Given the description of an element on the screen output the (x, y) to click on. 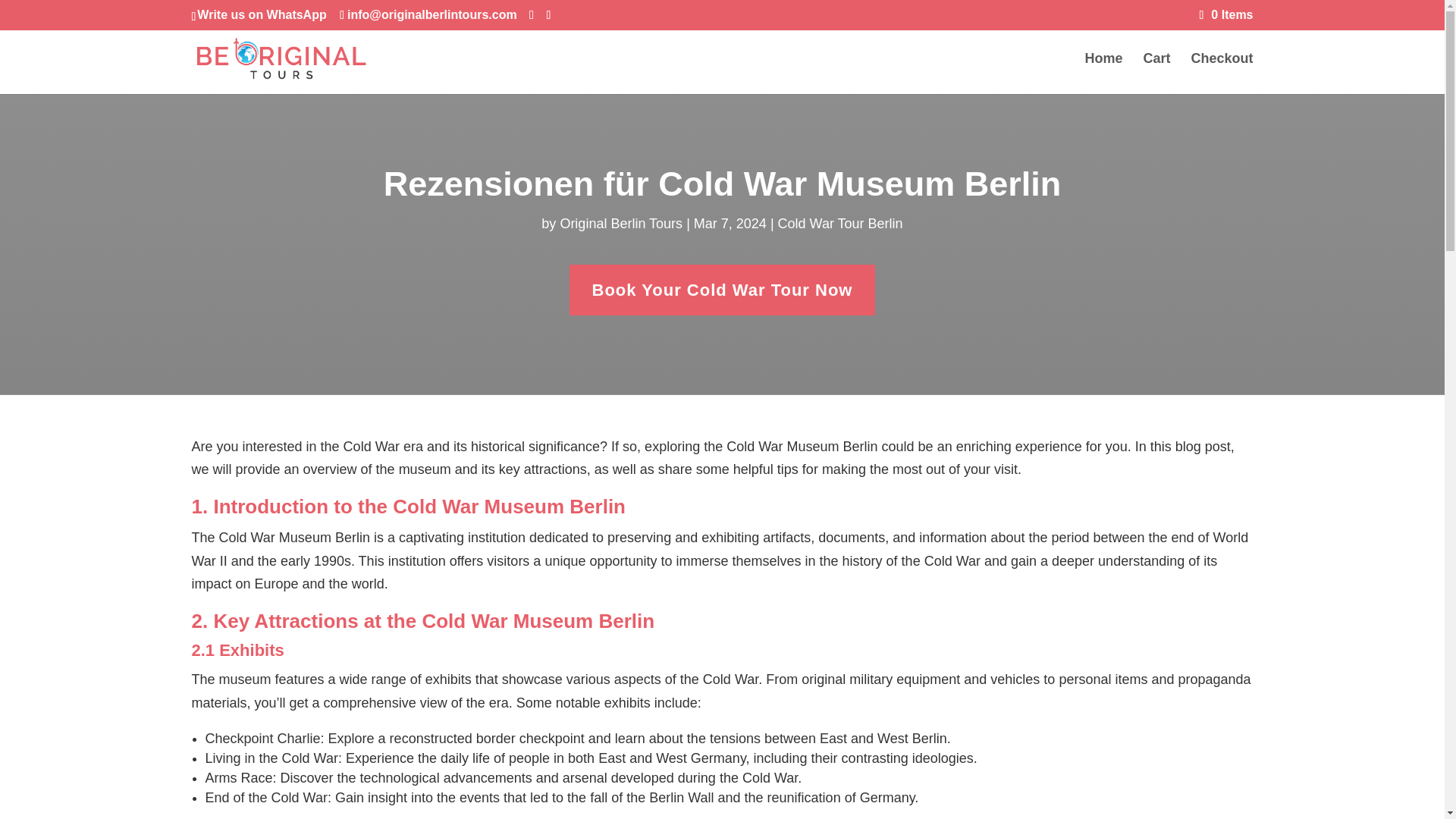
Original Berlin Tours (620, 223)
0 Items (1226, 14)
Write us on WhatsApp (261, 14)
Home (1103, 73)
Posts by Original Berlin Tours (620, 223)
Cold War Tour Berlin (839, 223)
Checkout (1221, 73)
Book Your Cold War Tour Now (722, 289)
